Given the description of an element on the screen output the (x, y) to click on. 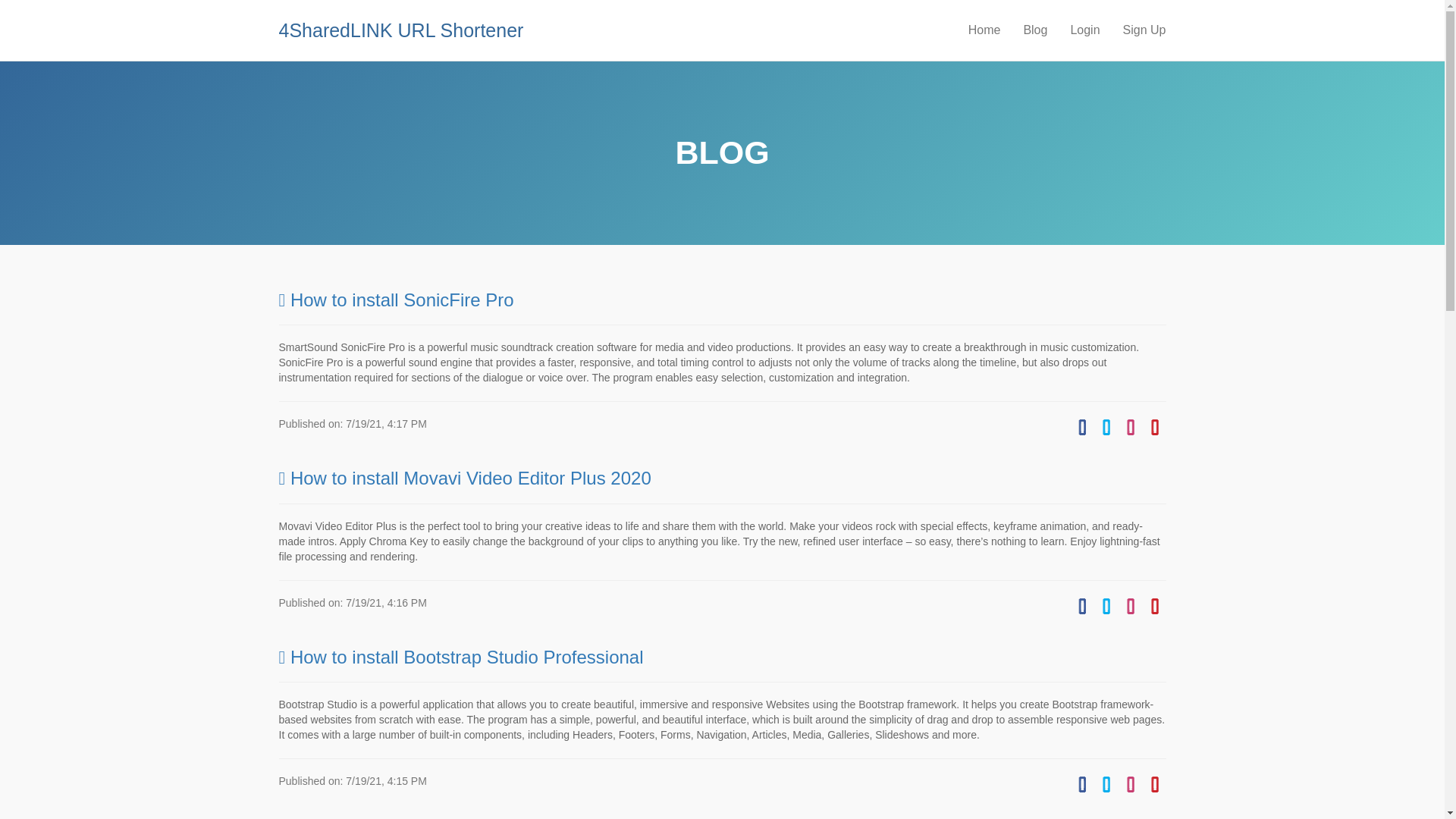
4SharedLINK URL Shortener (400, 22)
Home (983, 30)
4SharedLINK URL Shortener (407, 22)
FaceBook (1082, 784)
Sign Up (1144, 30)
Pinterest (1155, 426)
FaceBook (1082, 604)
Pinterest (1155, 784)
How to install SonicFire Pro (396, 299)
Pinterest (1155, 604)
